Given the description of an element on the screen output the (x, y) to click on. 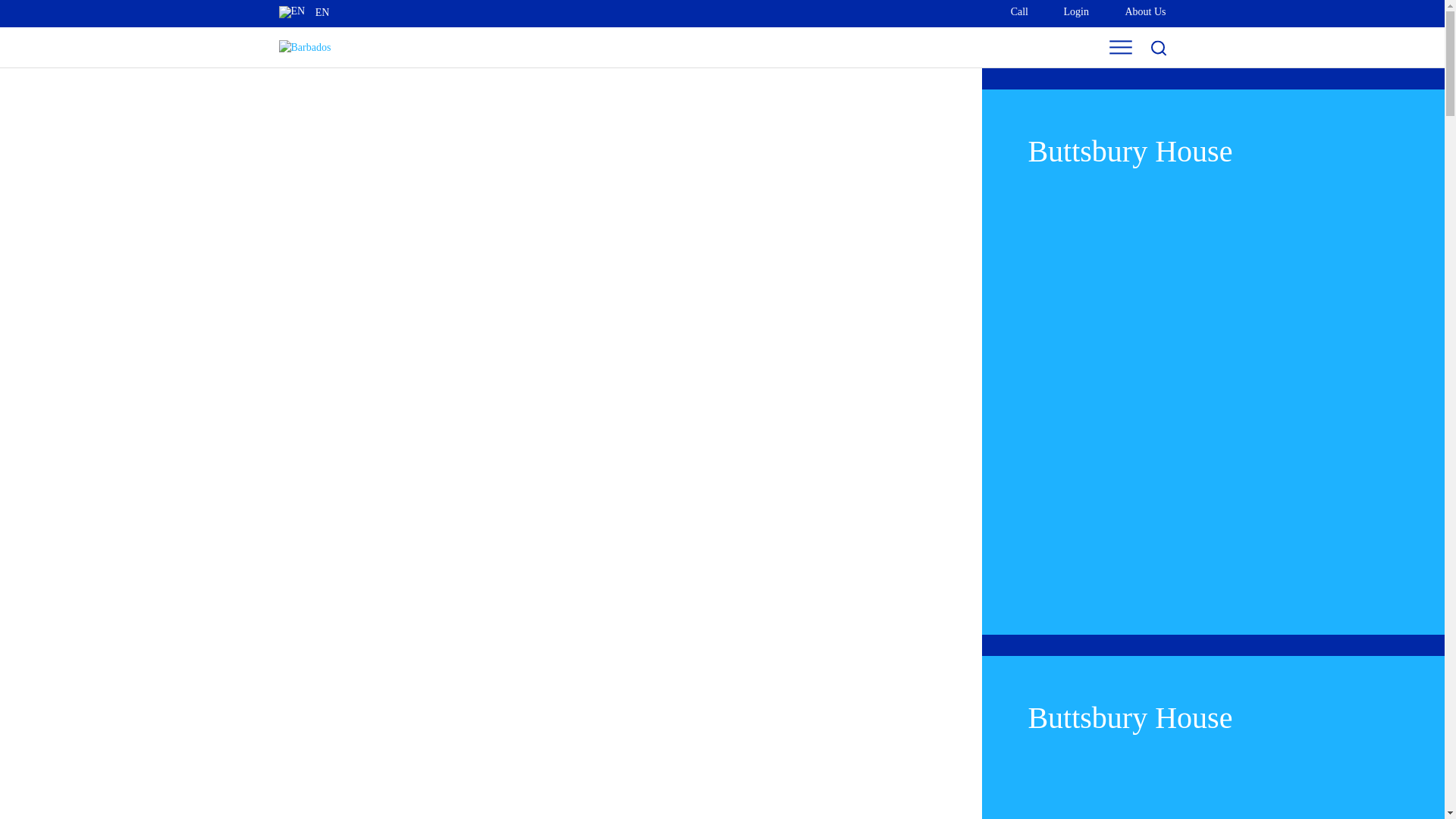
About Us (1134, 11)
EN (292, 11)
Login (1064, 11)
Barbados (1134, 11)
Call (305, 47)
Login (1008, 11)
EN (1064, 11)
Call (311, 12)
